Given the description of an element on the screen output the (x, y) to click on. 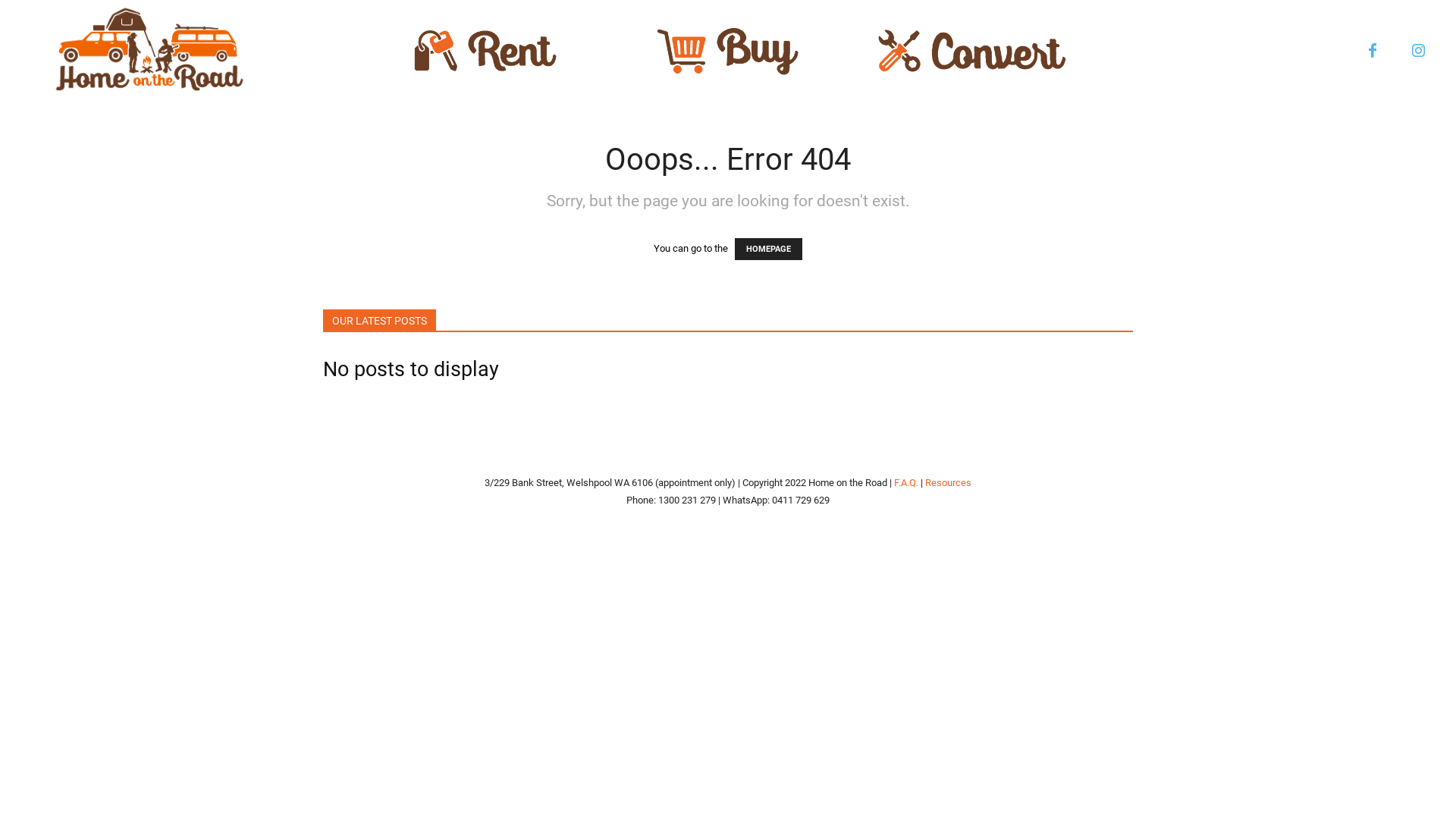
F.A.Q. Element type: text (906, 482)
Facebook Element type: hover (1372, 51)
Resources Element type: text (948, 482)
HOMEPAGE Element type: text (768, 249)
Instagram Element type: hover (1418, 51)
